Given the description of an element on the screen output the (x, y) to click on. 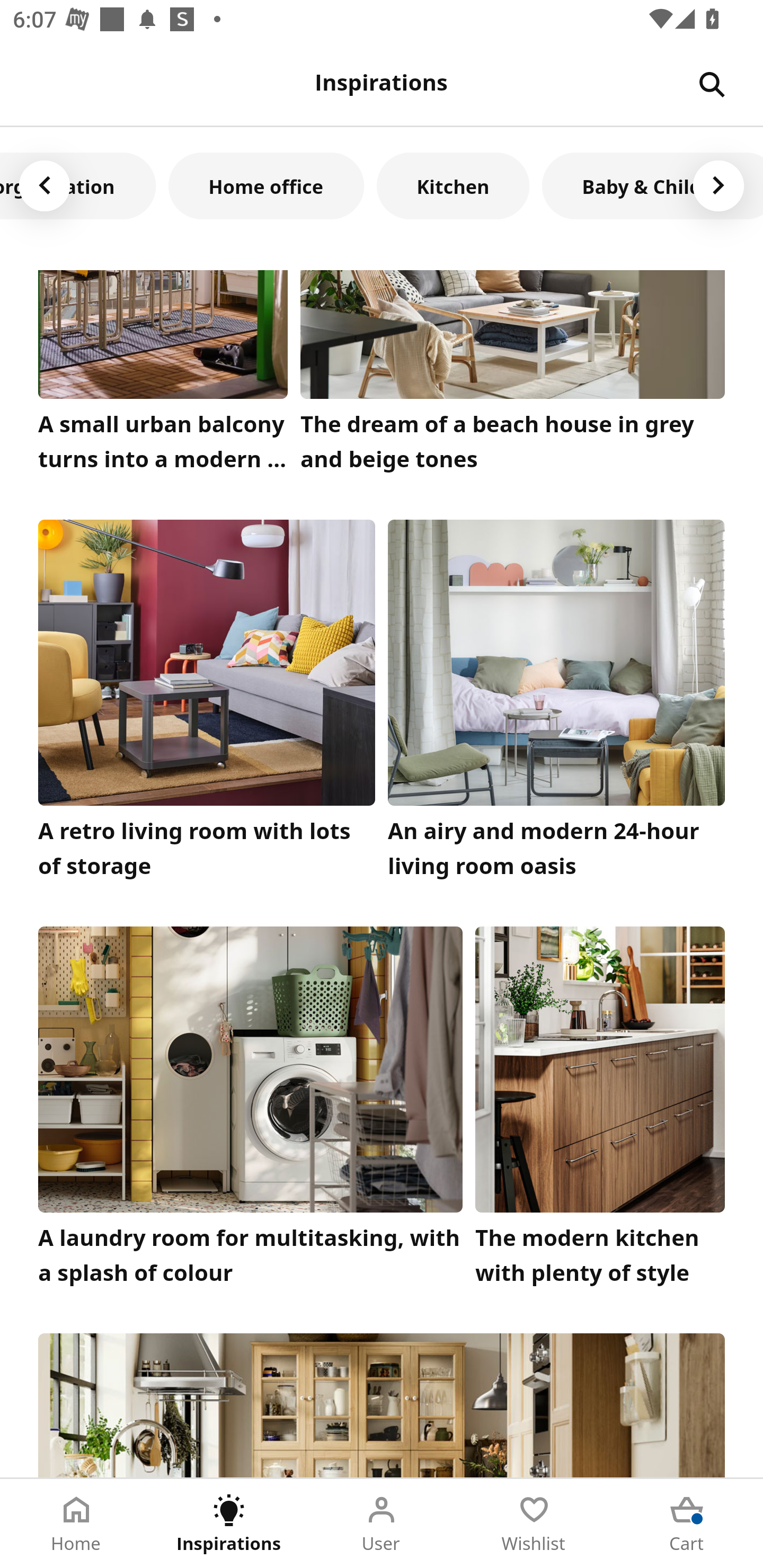
Home office (265, 185)
Kitchen (452, 185)
Baby & Children  (652, 185)
The dream of a beach house in grey and beige tones (512, 375)
A retro living room with lots of storage (206, 704)
An airy and modern 24-hour living room oasis (555, 704)
The modern kitchen with plenty of style (599, 1110)
Home
Tab 1 of 5 (76, 1522)
Inspirations
Tab 2 of 5 (228, 1522)
User
Tab 3 of 5 (381, 1522)
Wishlist
Tab 4 of 5 (533, 1522)
Cart
Tab 5 of 5 (686, 1522)
